Given the description of an element on the screen output the (x, y) to click on. 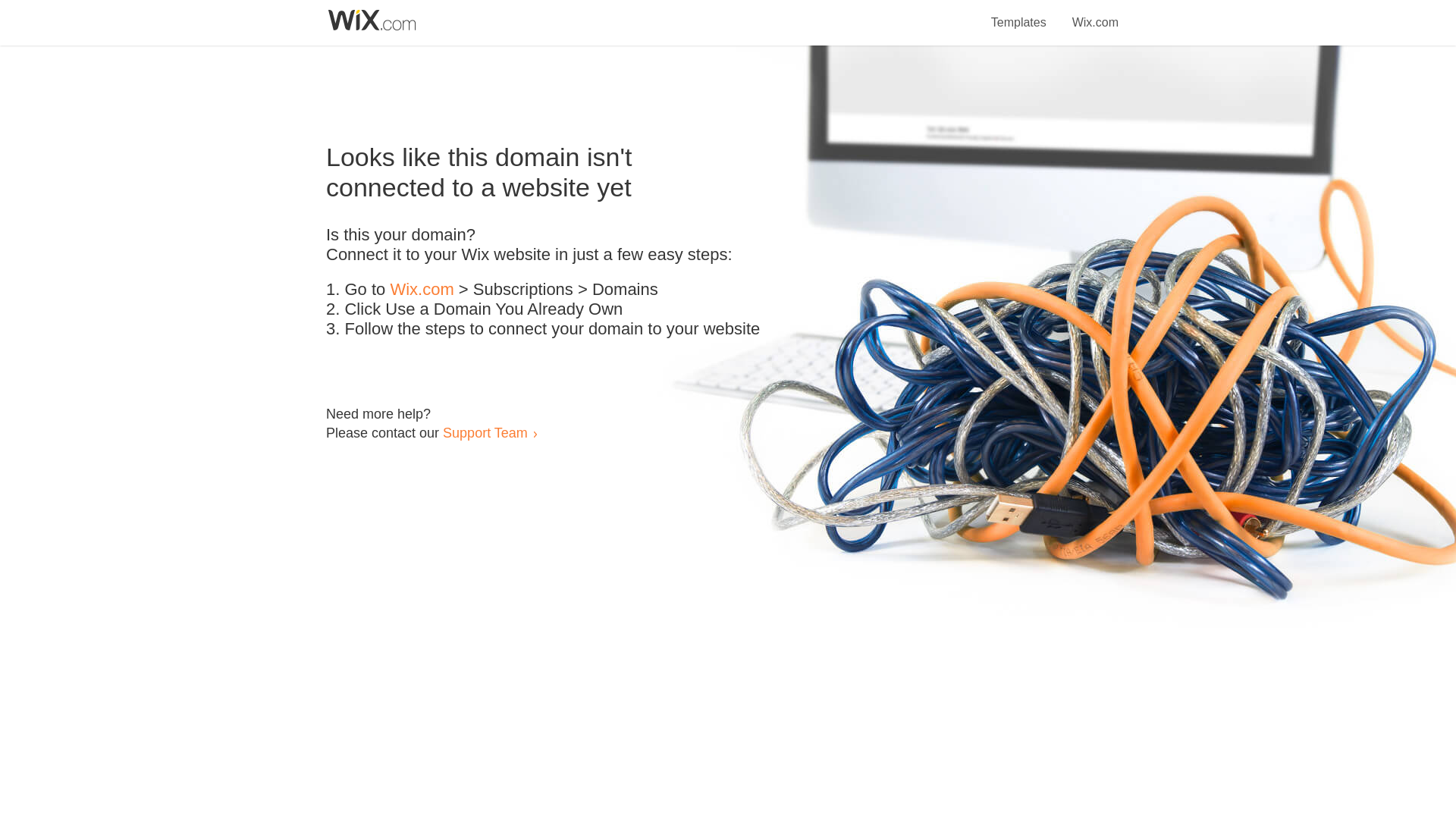
Wix.com (421, 289)
Templates (1018, 14)
Support Team (484, 432)
Wix.com (1095, 14)
